Given the description of an element on the screen output the (x, y) to click on. 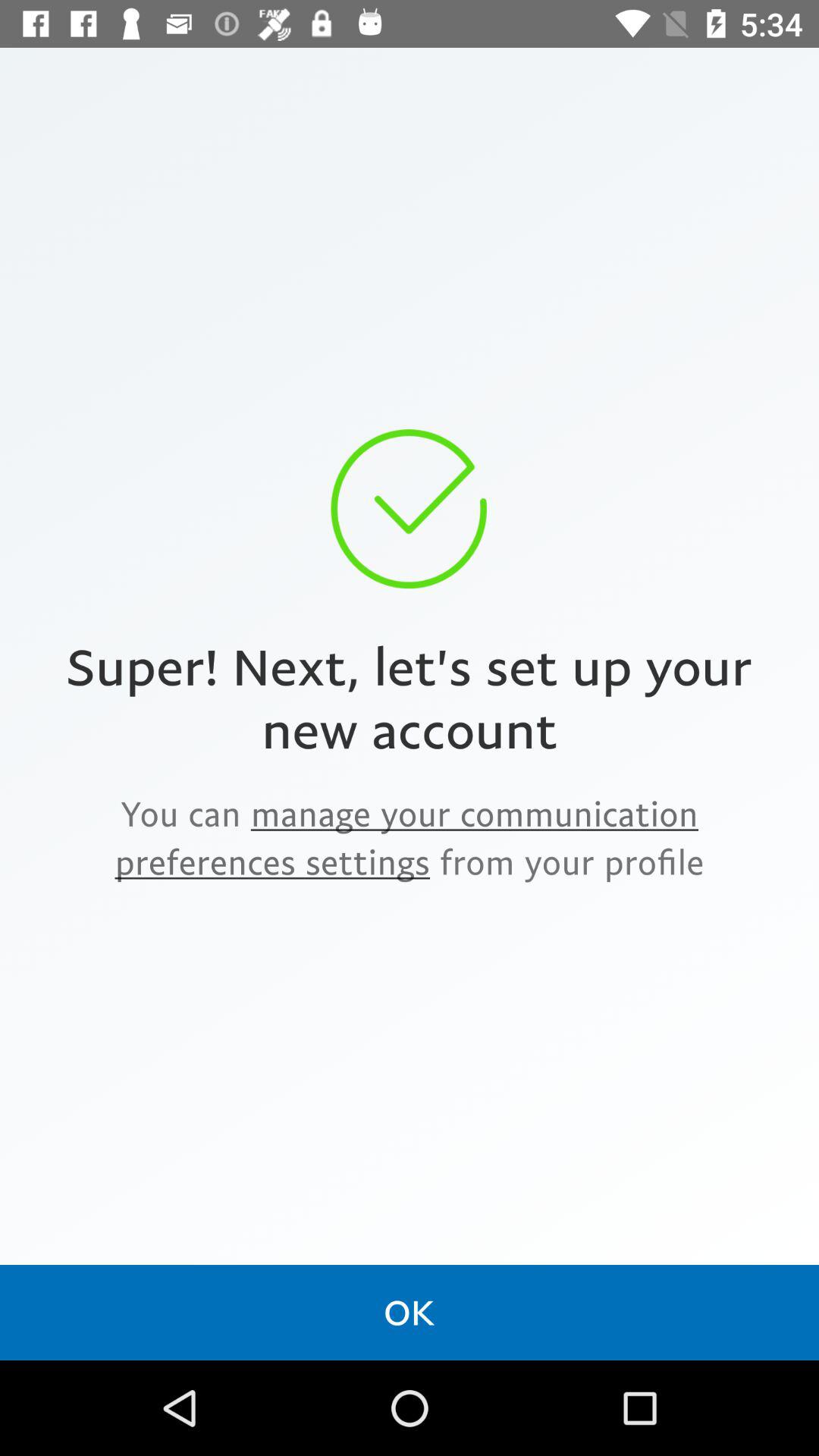
turn on the you can manage (409, 837)
